Given the description of an element on the screen output the (x, y) to click on. 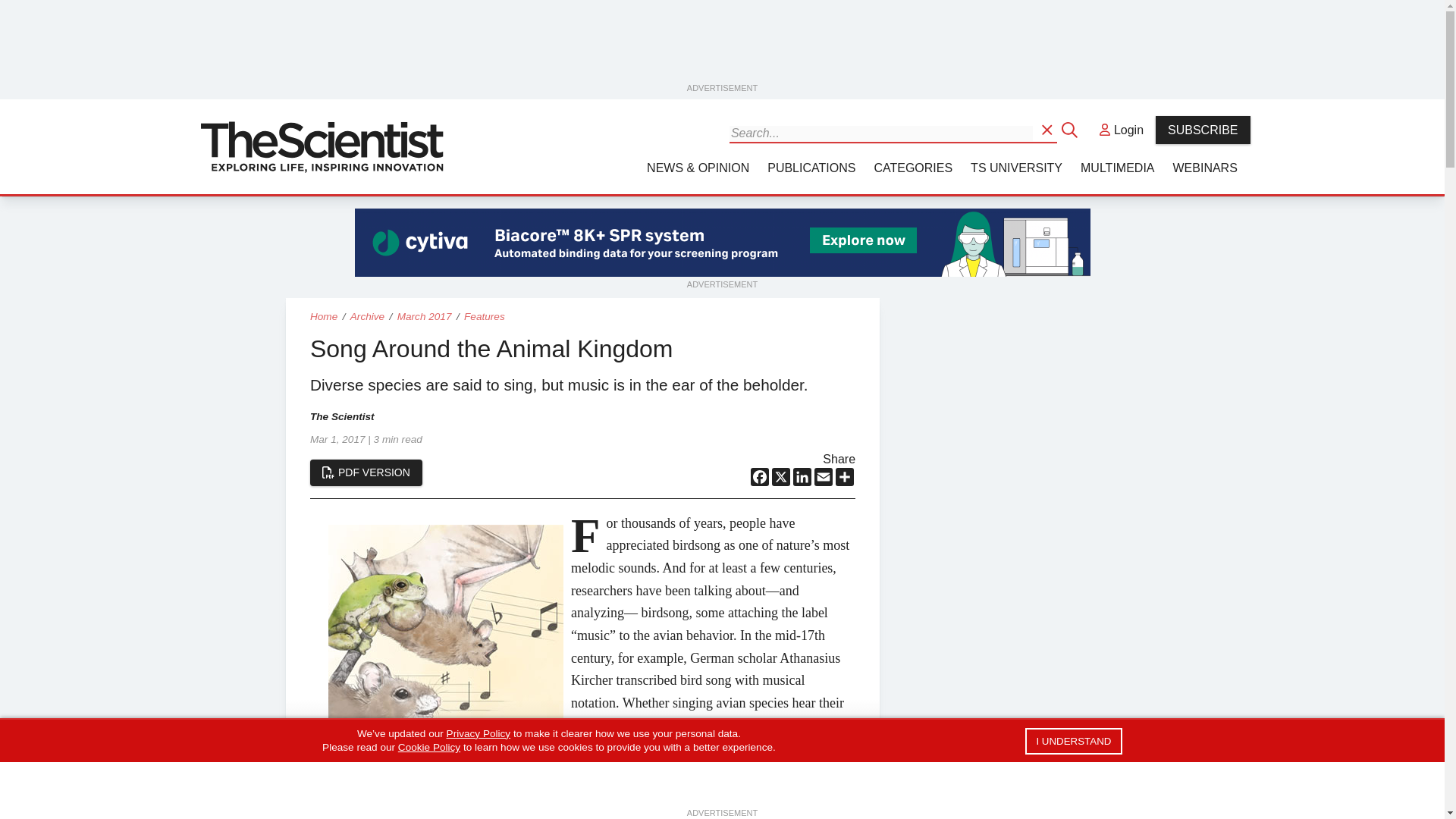
Open Search (1049, 129)
3rd party ad content (722, 46)
Close Search (1071, 129)
3rd party ad content (722, 242)
